Given the description of an element on the screen output the (x, y) to click on. 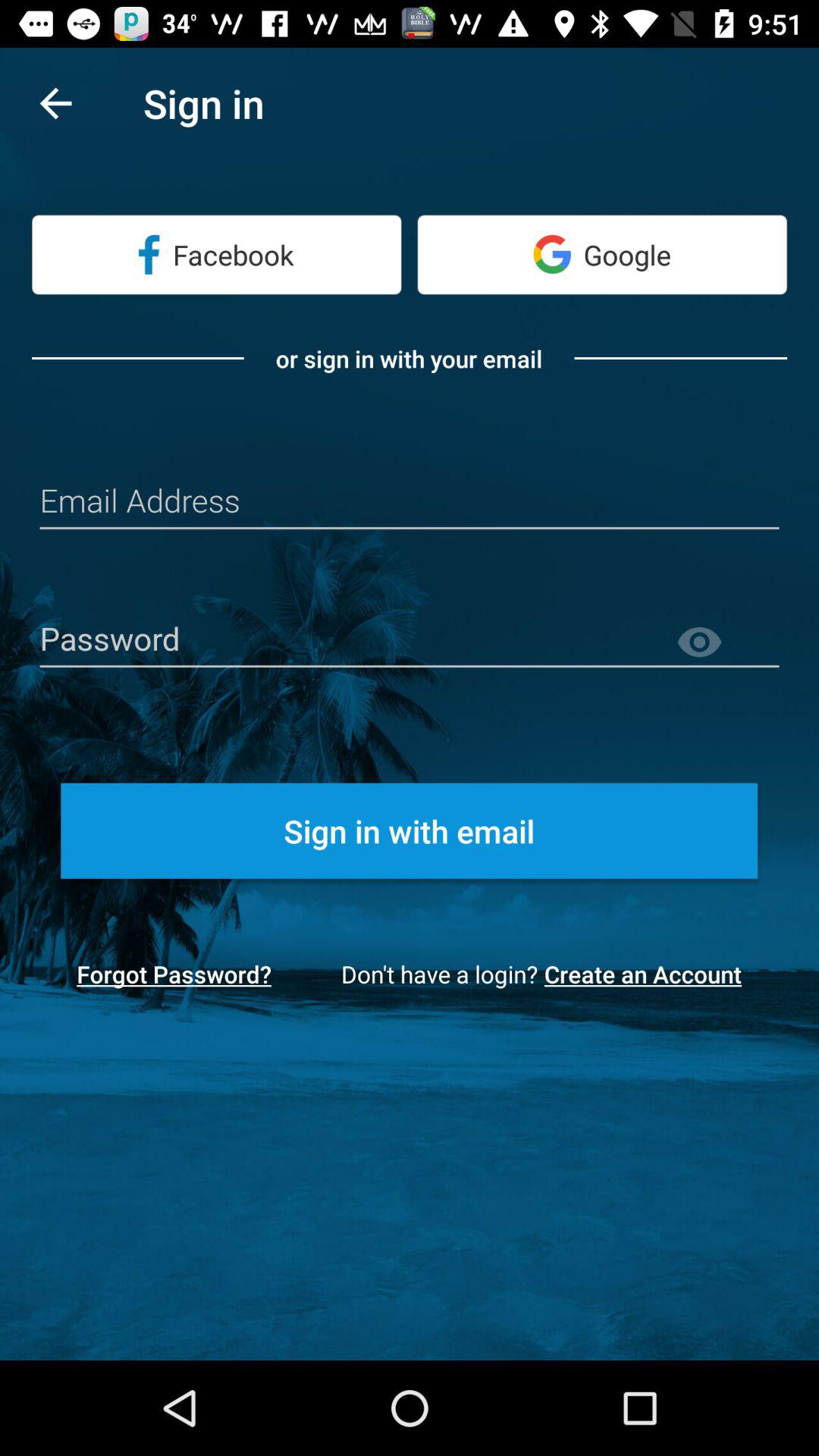
input email address (409, 502)
